Given the description of an element on the screen output the (x, y) to click on. 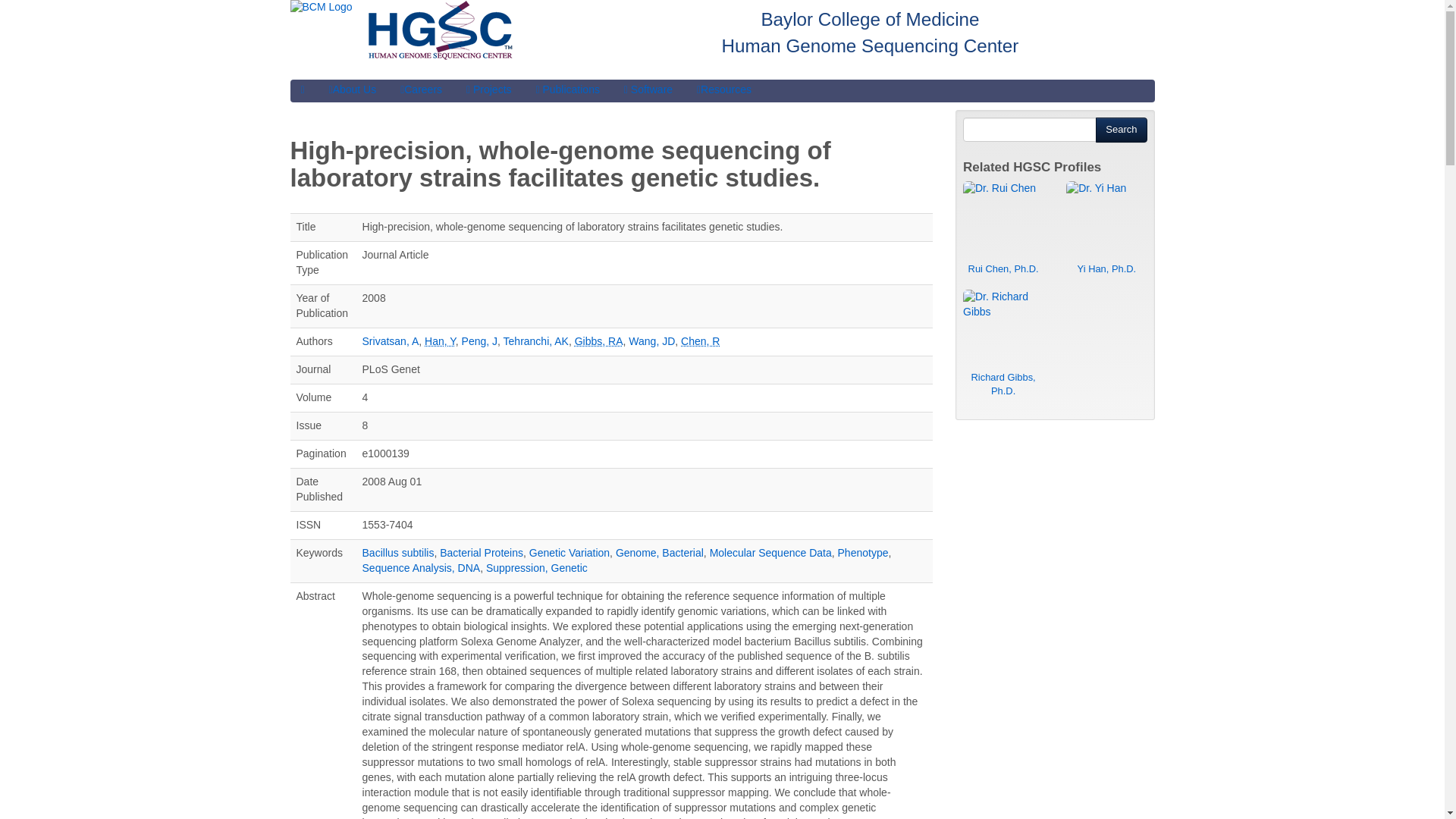
Projects (488, 90)
About Us (352, 90)
About Us (352, 90)
Careers (421, 90)
Projects (488, 90)
Career opportunities with HGSC (421, 90)
BCM-HGSC (301, 90)
